Given the description of an element on the screen output the (x, y) to click on. 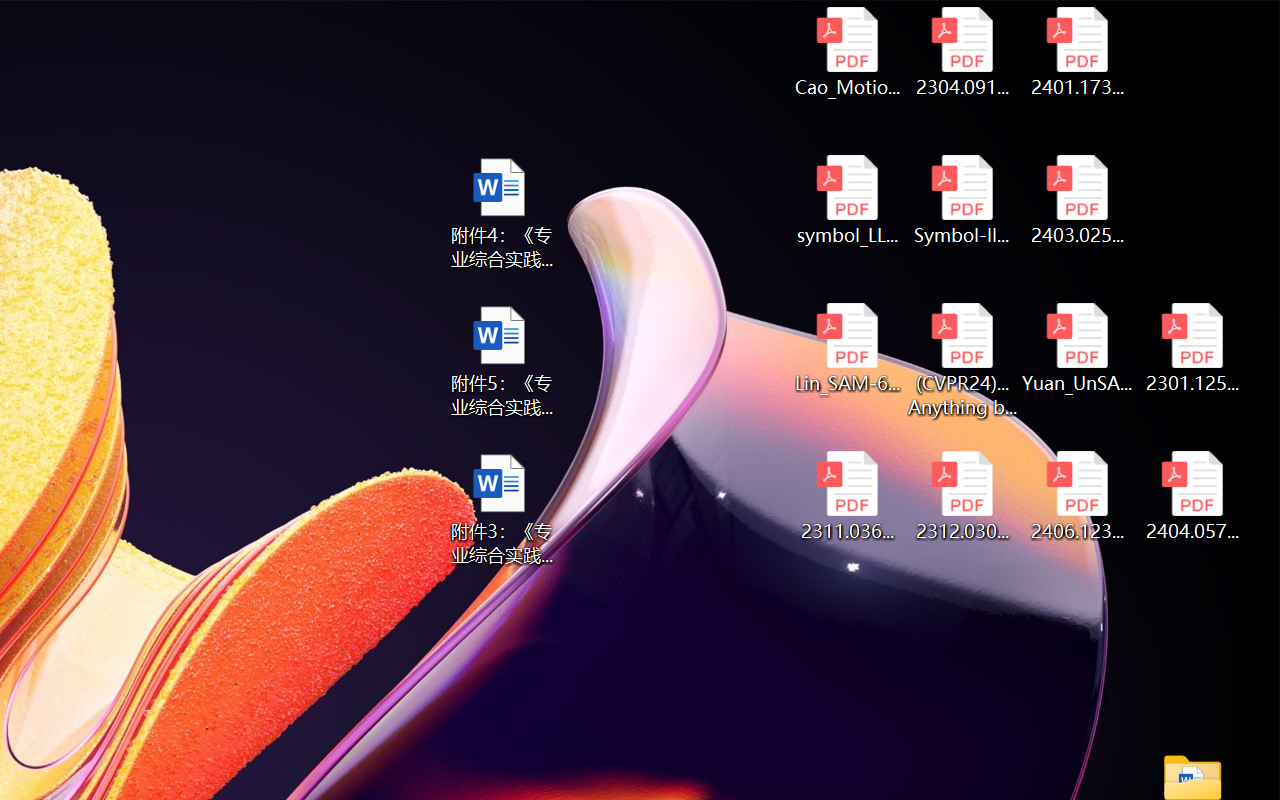
2403.02502v1.pdf (1077, 200)
(CVPR24)Matching Anything by Segmenting Anything.pdf (962, 360)
2404.05719v1.pdf (1192, 496)
2401.17399v1.pdf (1077, 52)
2301.12597v3.pdf (1192, 348)
2311.03658v2.pdf (846, 496)
Symbol-llm-v2.pdf (962, 200)
2406.12373v2.pdf (1077, 496)
symbol_LLM.pdf (846, 200)
